Given the description of an element on the screen output the (x, y) to click on. 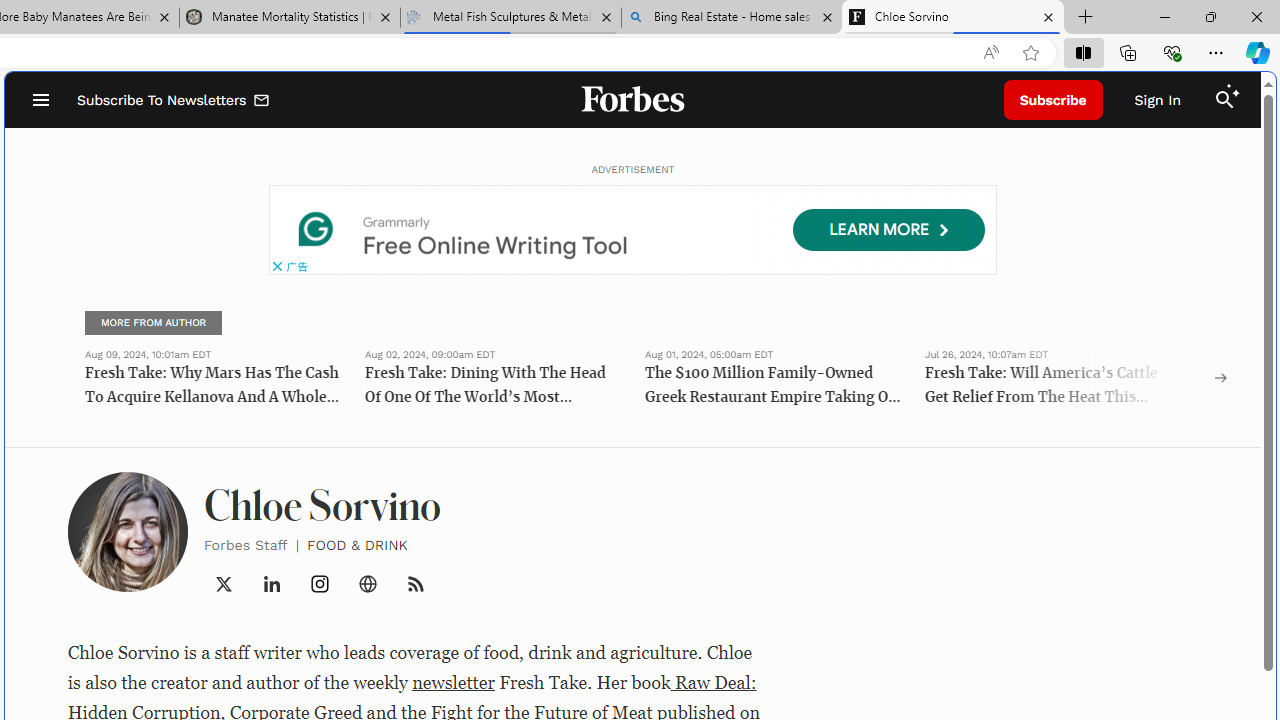
Forbes Logo (632, 99)
Class: envelope_svg__fs-icon envelope_svg__fs-icon--envelope (262, 102)
Class: OesMt (319, 583)
Subscribe (1053, 99)
Class: sparkles_svg__fs-icon sparkles_svg__fs-icon--sparkles (1233, 91)
Sign In (1157, 100)
Bing Real Estate - Home sales and rental listings (732, 17)
